Given the description of an element on the screen output the (x, y) to click on. 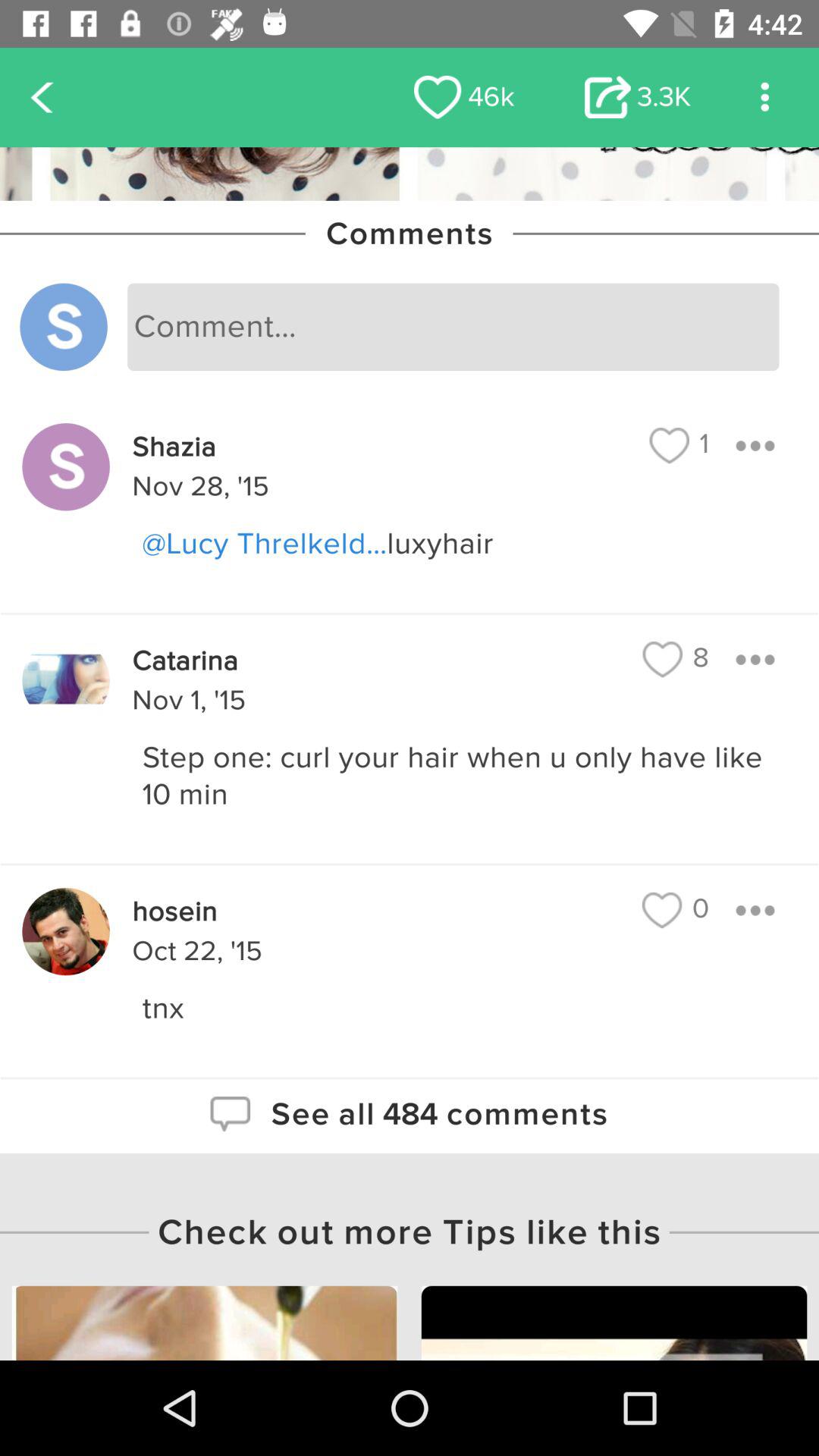
click button (755, 910)
